Given the description of an element on the screen output the (x, y) to click on. 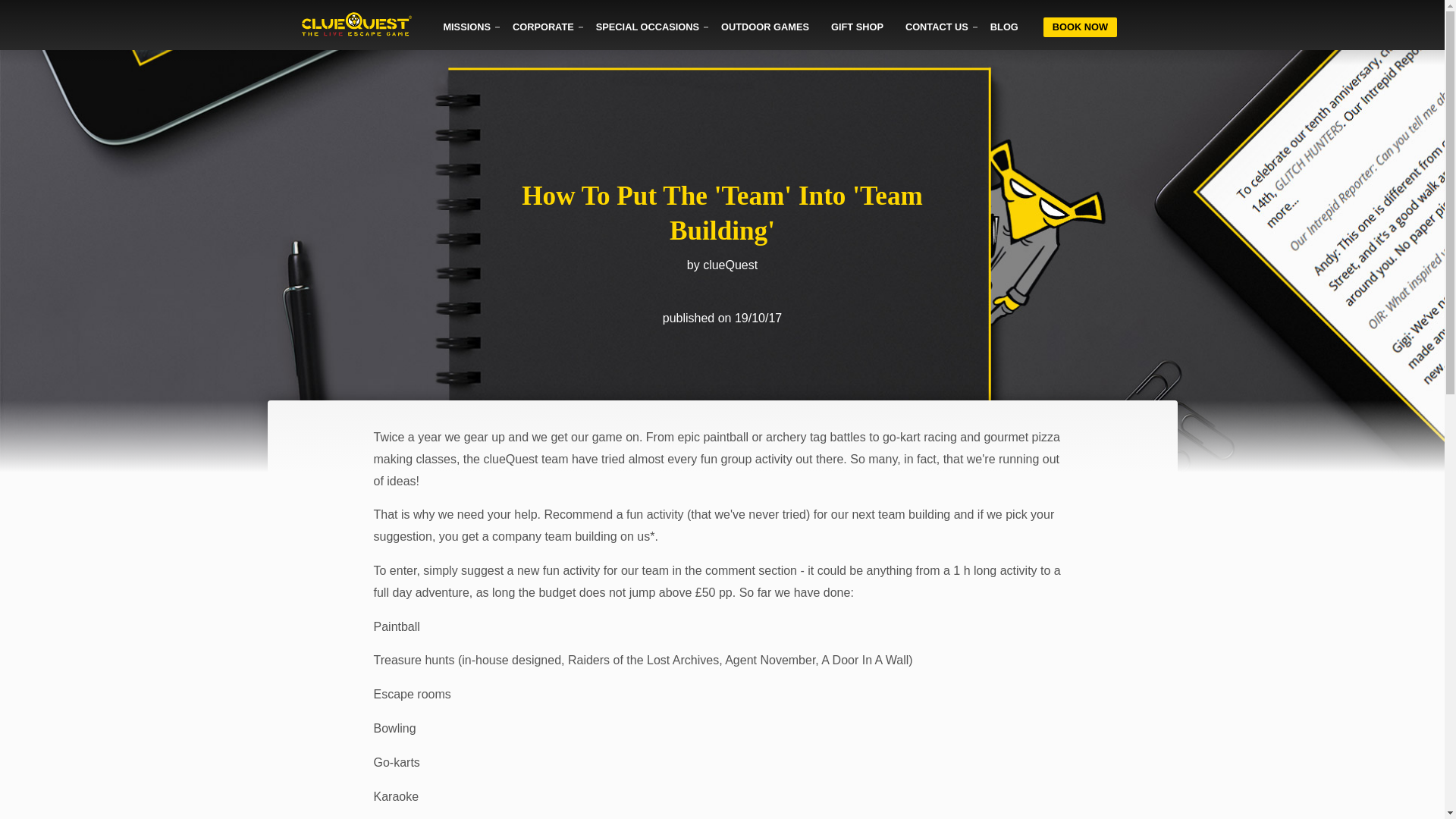
CORPORATE (543, 26)
OUTDOOR GAMES (764, 26)
GIFT SHOP (857, 26)
Home (356, 25)
MISSIONS (466, 26)
SPECIAL OCCASIONS (646, 26)
CONTACT US (936, 26)
clueQuest The Live Escape Game logo (356, 27)
